Given the description of an element on the screen output the (x, y) to click on. 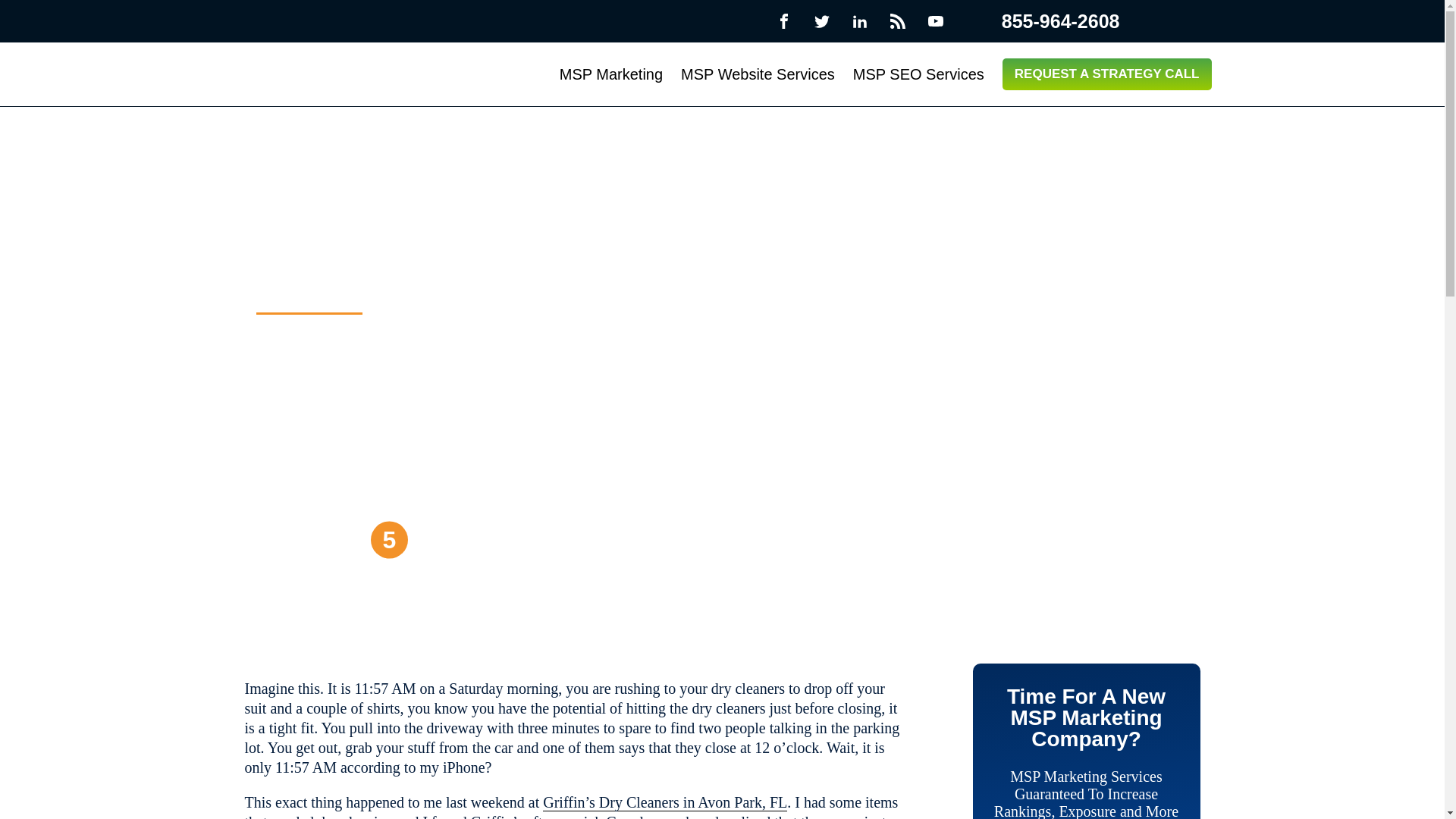
MSP Website Services (757, 74)
855-964-2608 (1046, 20)
REQUEST A STRATEGY CALL (1107, 74)
MSP SEO Services (918, 74)
MSP Marketing (610, 74)
JOIN US NOW (331, 539)
